Given the description of an element on the screen output the (x, y) to click on. 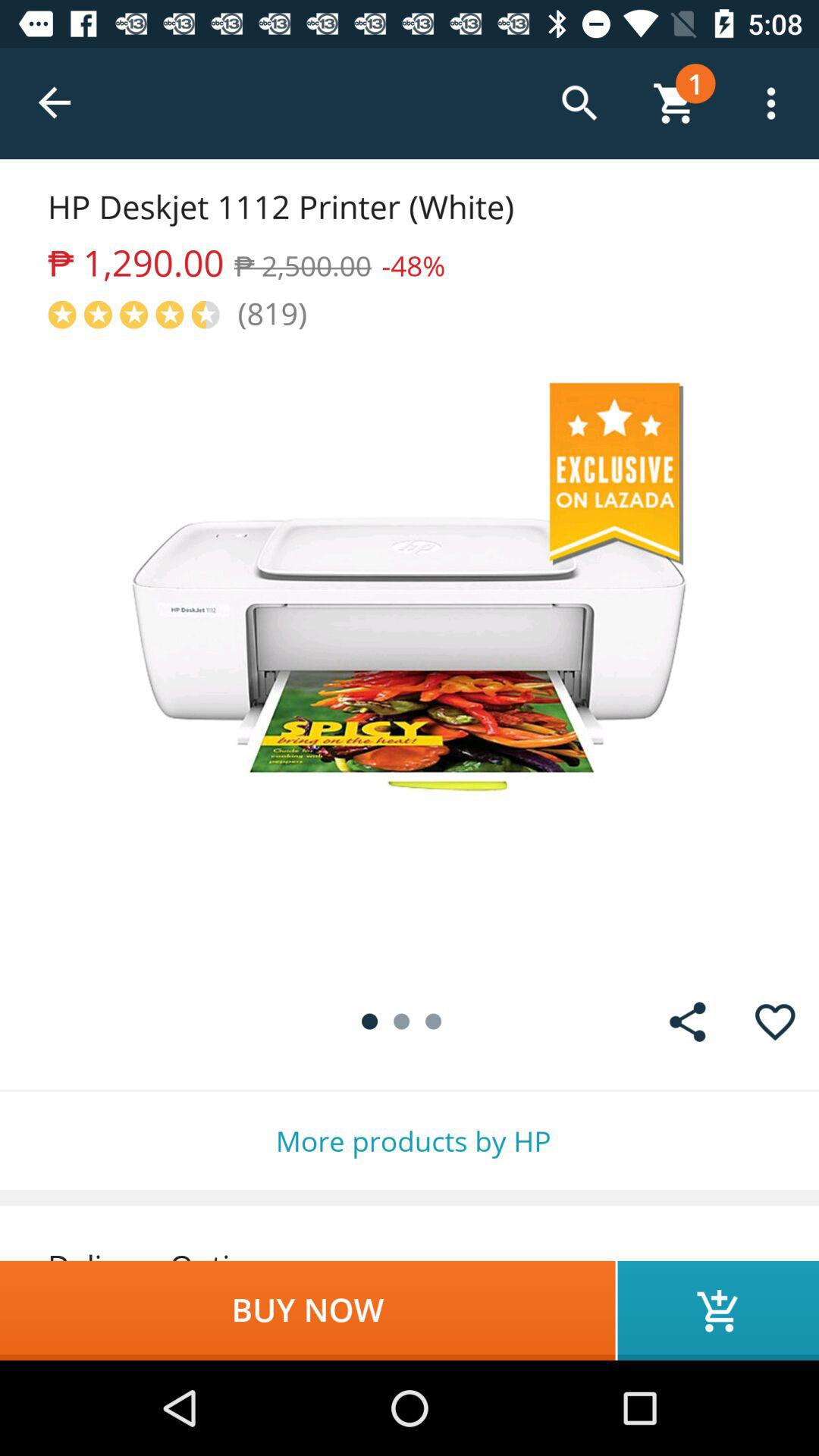
turn off icon above the delivery options (409, 1140)
